Given the description of an element on the screen output the (x, y) to click on. 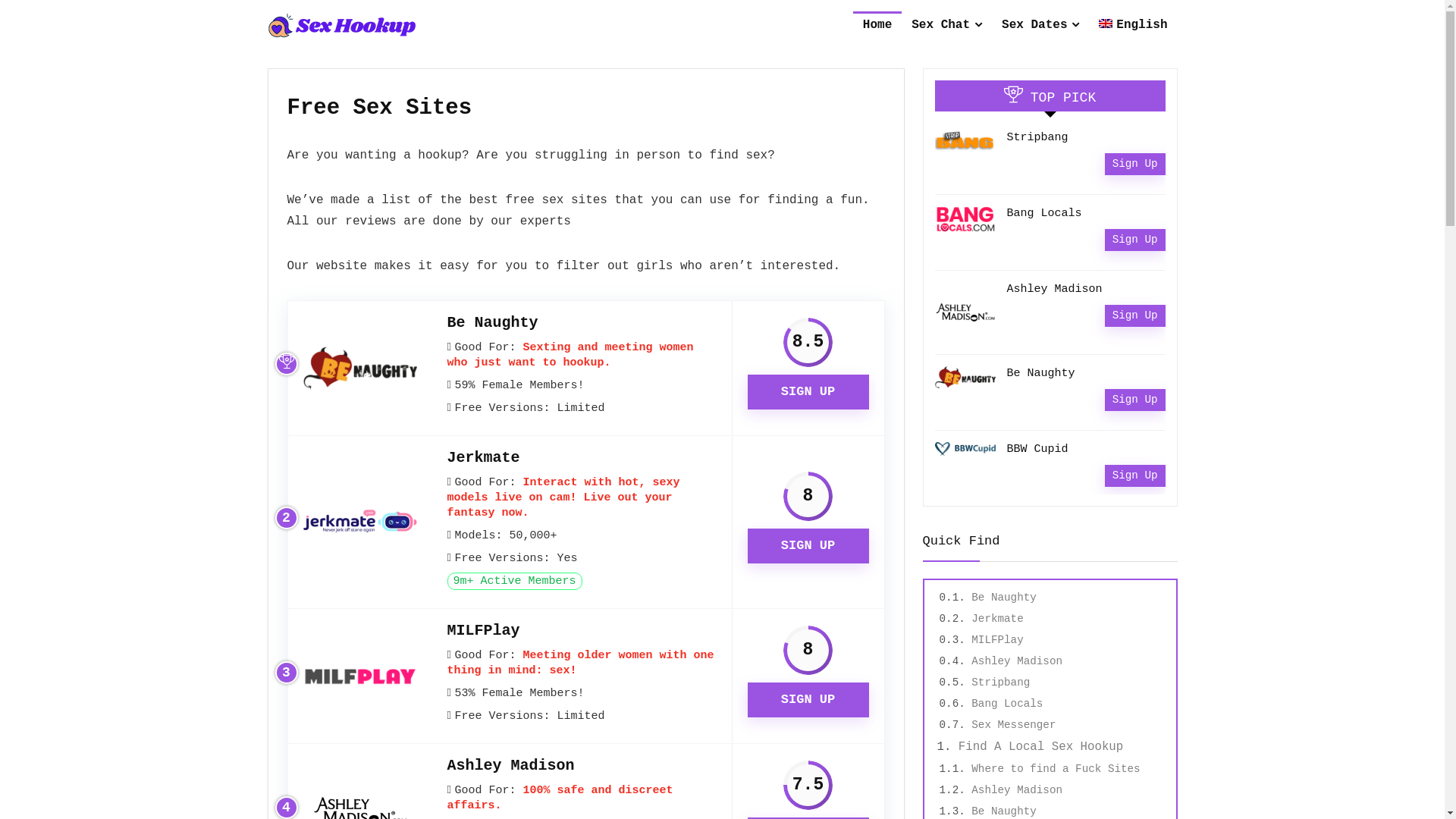
Sign Up Element type: text (1134, 315)
Sign Up Element type: text (1134, 400)
Sign Up Element type: text (1134, 240)
SIGN UP Element type: text (808, 544)
Be Naughty Element type: text (1003, 811)
Sign Up Element type: text (1134, 164)
Bang Locals Element type: text (1044, 213)
Be Naughty Element type: text (492, 322)
Be Naughty Element type: text (1003, 597)
Where to find a Fuck Sites Element type: text (1055, 768)
Sex Dates Element type: text (1039, 26)
MILFPlay Element type: text (483, 630)
Jerkmate Element type: text (996, 618)
MILFPlay Element type: text (996, 639)
BBW Cupid Element type: text (1037, 448)
Ashley Madison Element type: text (1016, 790)
Ashley Madison Element type: text (1016, 661)
SIGN UP Element type: text (808, 391)
Jerkmate Element type: text (483, 457)
Find A Local Sex Hookup Element type: text (1040, 746)
Stripbang Element type: text (1000, 682)
Sign Up Element type: text (1134, 475)
Be Naughty Element type: text (1041, 373)
Ashley Madison Element type: text (1054, 288)
Ashley Madison Element type: text (510, 765)
English Element type: text (1132, 26)
Stripbang Element type: text (1037, 137)
Sex Messenger Element type: text (1013, 724)
Bang Locals Element type: text (1006, 703)
Sex Chat Element type: text (946, 26)
Home Element type: text (877, 26)
SIGN UP Element type: text (808, 699)
